Given the description of an element on the screen output the (x, y) to click on. 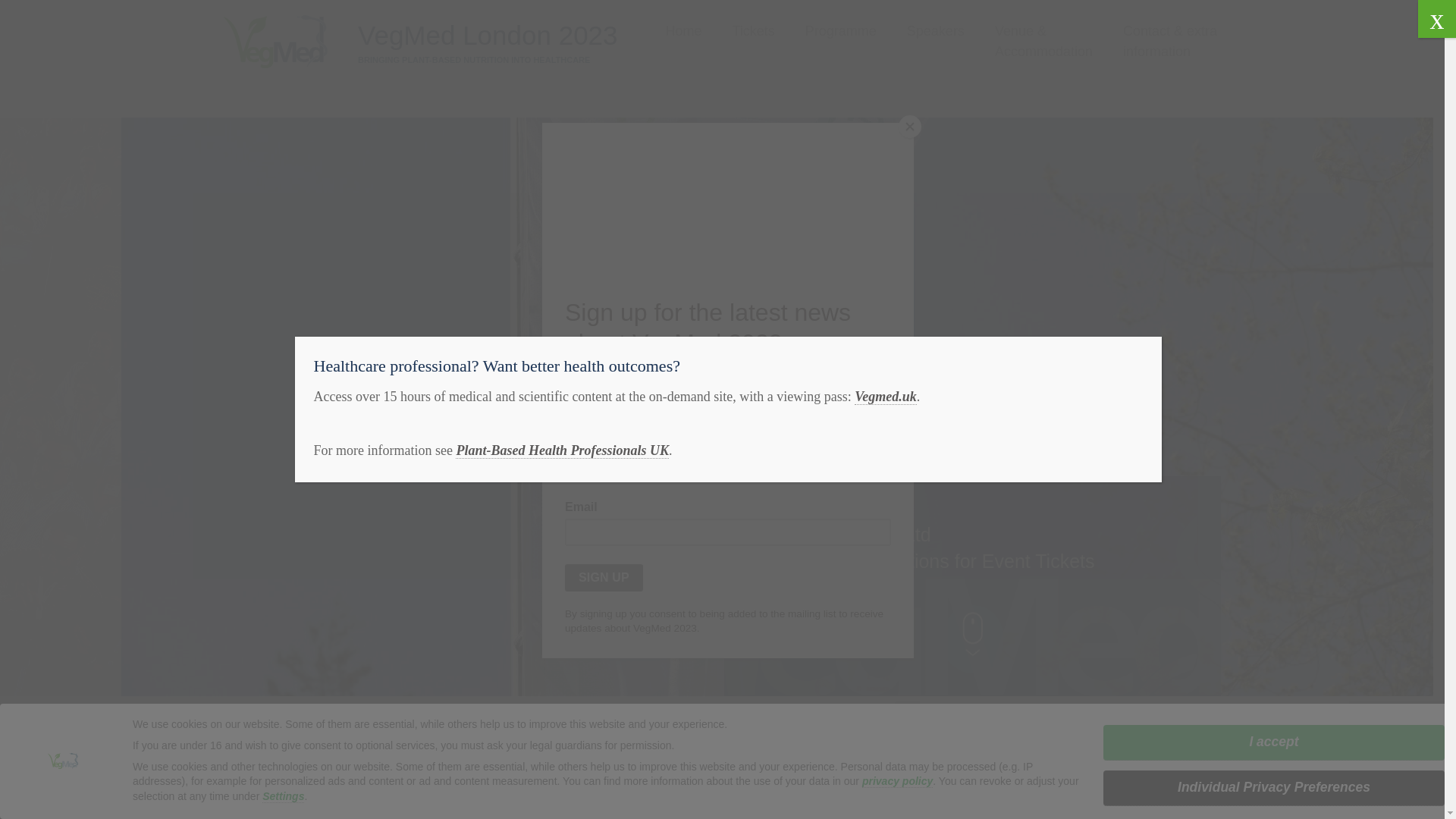
Vegmed.uk (885, 396)
Plant-Based Health Professionals UK (561, 450)
privacy policy (897, 780)
Tickets (753, 31)
Home (683, 31)
Programme (840, 31)
Speakers (935, 31)
